Given the description of an element on the screen output the (x, y) to click on. 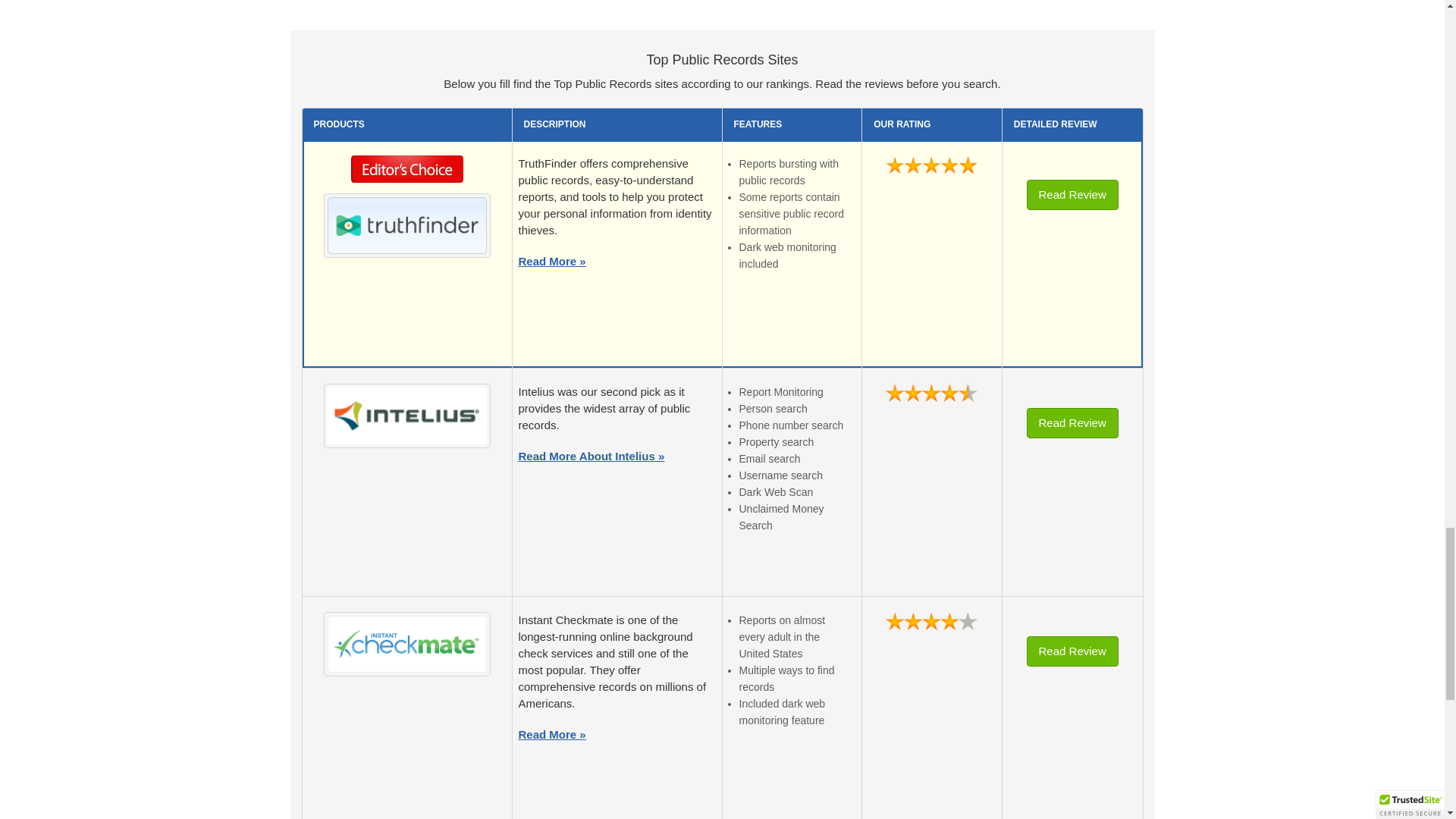
TruthFinder (406, 225)
Intelius (406, 415)
Editors Choice (407, 172)
Instant Checkmate (406, 643)
